Given the description of an element on the screen output the (x, y) to click on. 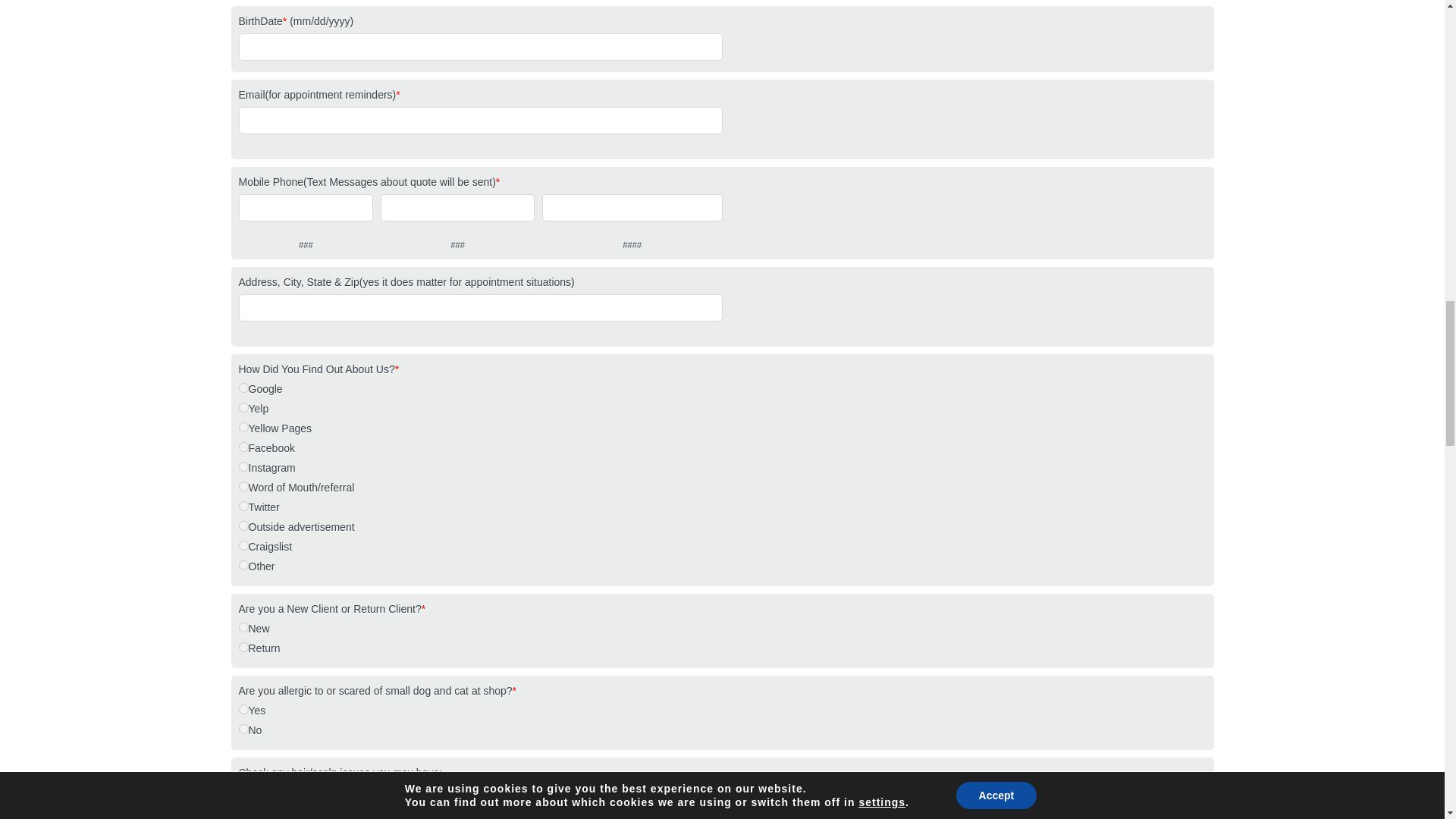
Facebook (242, 447)
Craigslist (242, 545)
Twitter (242, 506)
Outside advertisement (242, 525)
New (242, 627)
Yelp (242, 407)
Instagram (242, 466)
Return (242, 646)
Yellow Pages (242, 427)
Other (242, 565)
Google  (242, 388)
